Given the description of an element on the screen output the (x, y) to click on. 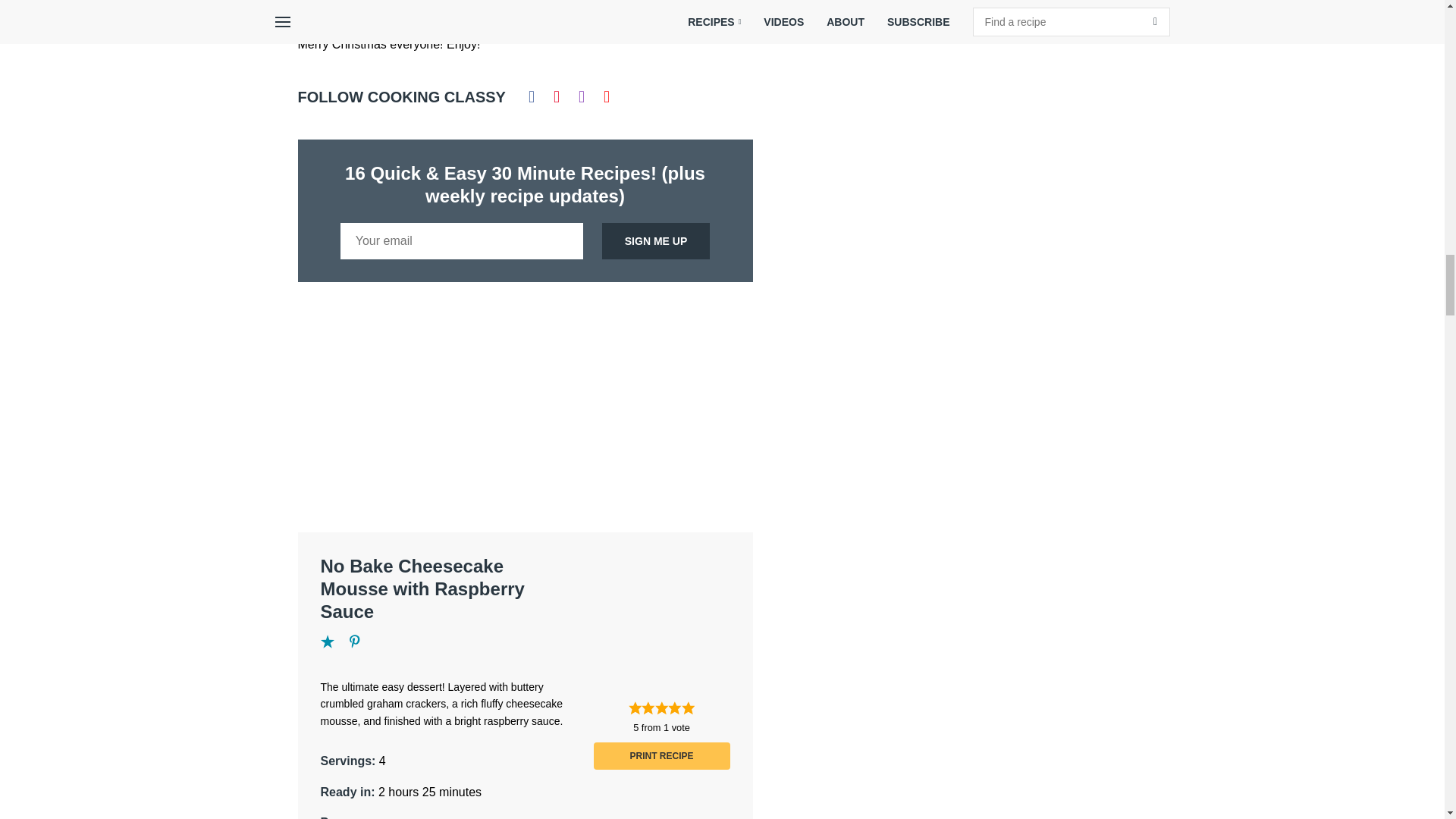
Sign Me Up (656, 240)
